Given the description of an element on the screen output the (x, y) to click on. 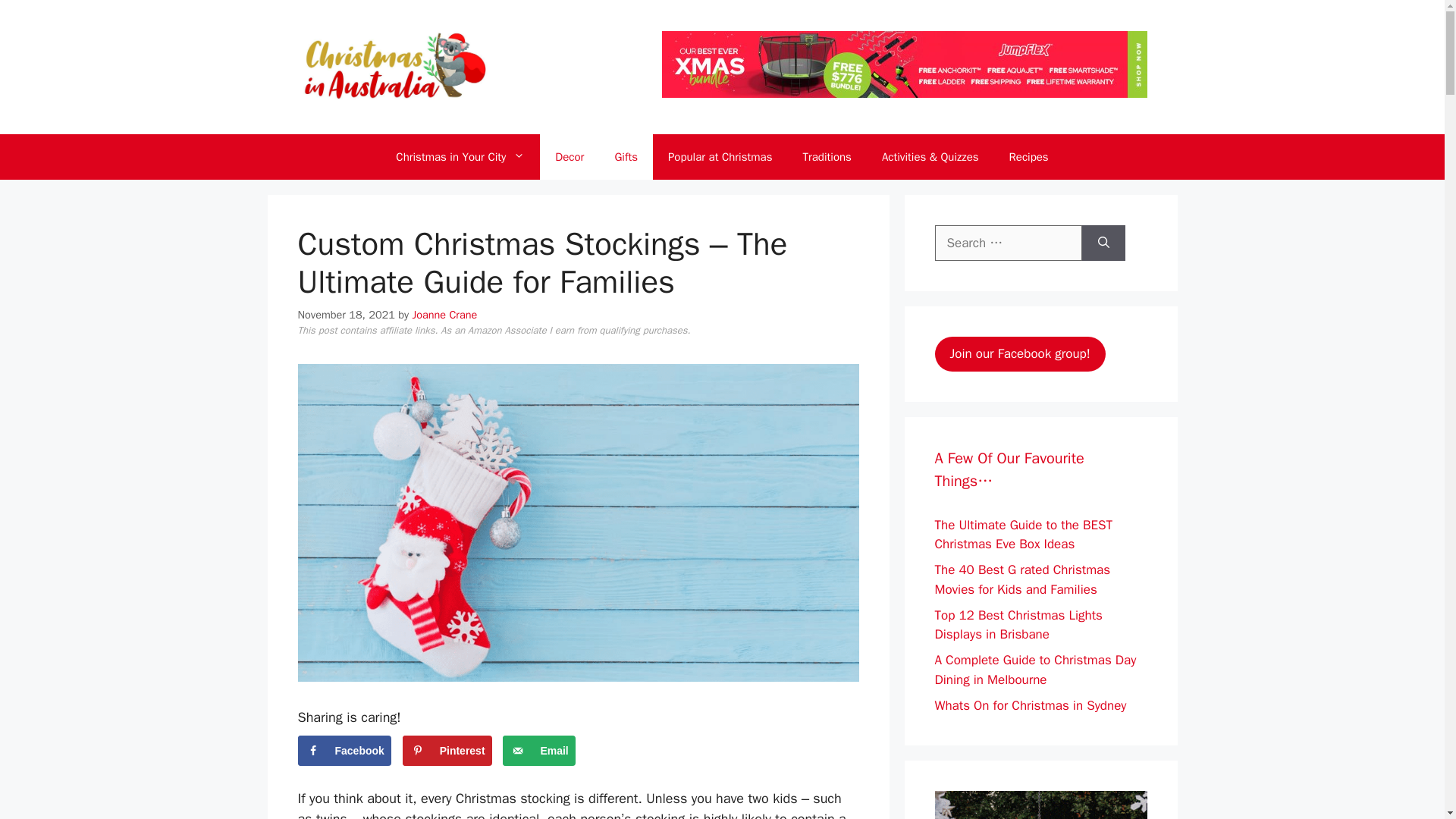
Send over email (538, 750)
Share on Facebook (343, 750)
Decor (569, 156)
Christmas in Your City (460, 156)
Save to Pinterest (447, 750)
Joanne Crane (444, 314)
Popular at Christmas (719, 156)
Email (538, 750)
Pinterest (447, 750)
Facebook (343, 750)
